Given the description of an element on the screen output the (x, y) to click on. 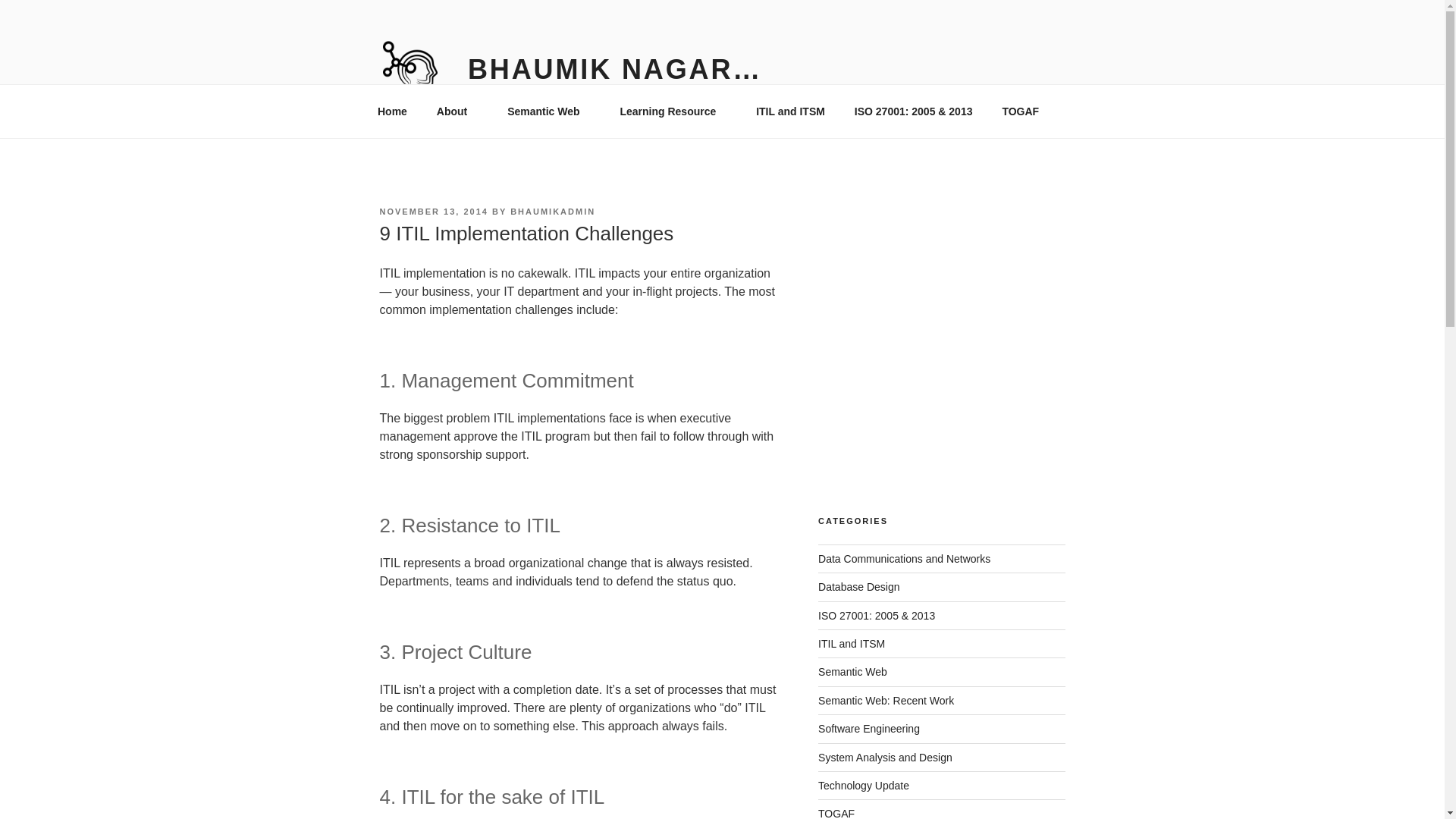
Database Design (858, 586)
Learning Resource (673, 110)
Software Engineering (869, 728)
TOGAF (1020, 110)
ITIL and ITSM (851, 644)
BHAUMIKADMIN (553, 211)
Home (392, 110)
Semantic Web: Recent Work (885, 700)
Data Communications and Networks (904, 558)
ITIL and ITSM (790, 110)
